Given the description of an element on the screen output the (x, y) to click on. 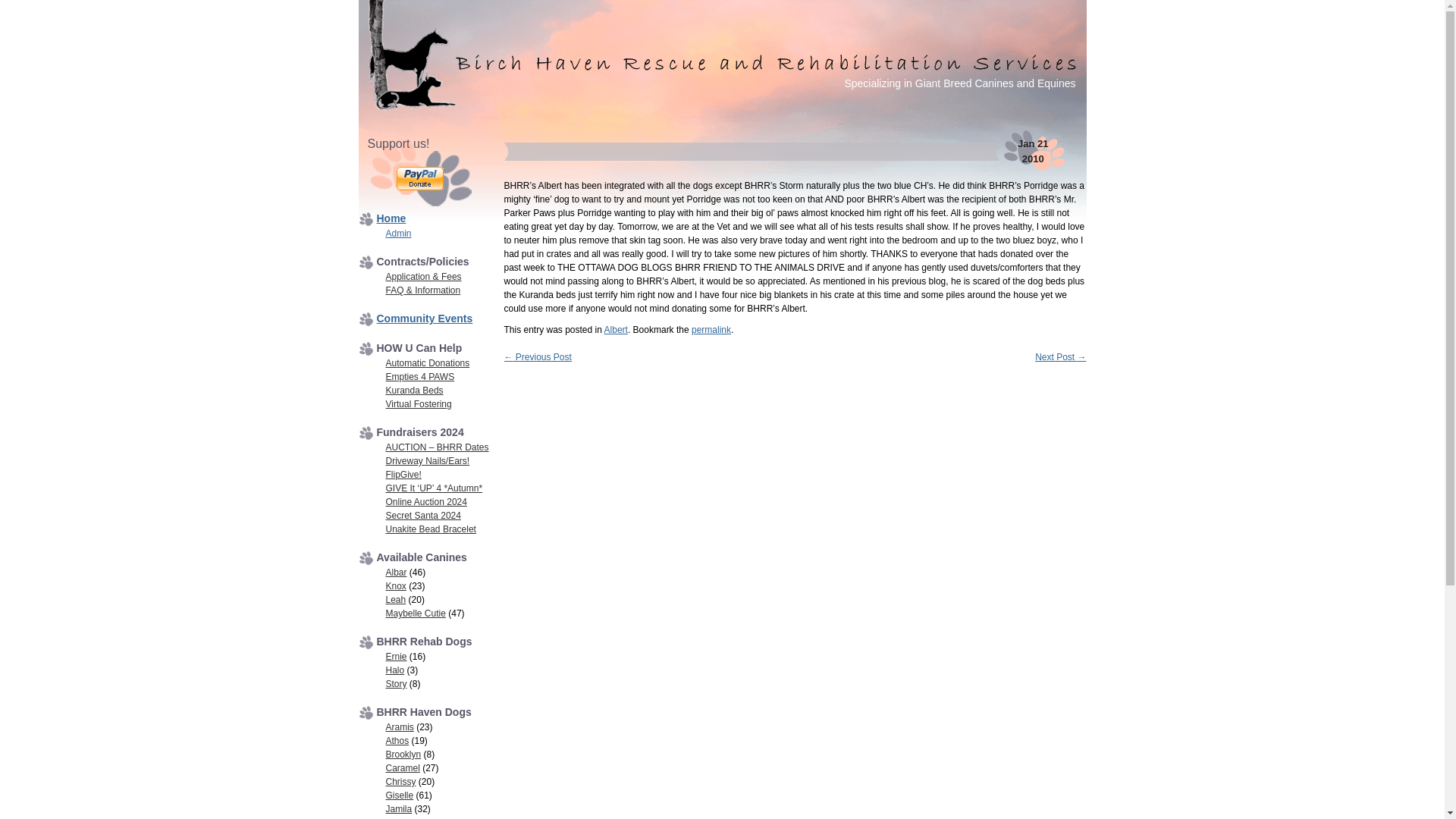
Athos (397, 740)
Story (395, 683)
Kuranda Beds (413, 389)
View all posts filed under Aramis (399, 726)
Admin (397, 233)
Chrissy (399, 781)
Brooklyn (402, 754)
View all posts filed under Jamila (398, 808)
View all posts filed under Caramel (402, 767)
Aramis (399, 726)
